Given the description of an element on the screen output the (x, y) to click on. 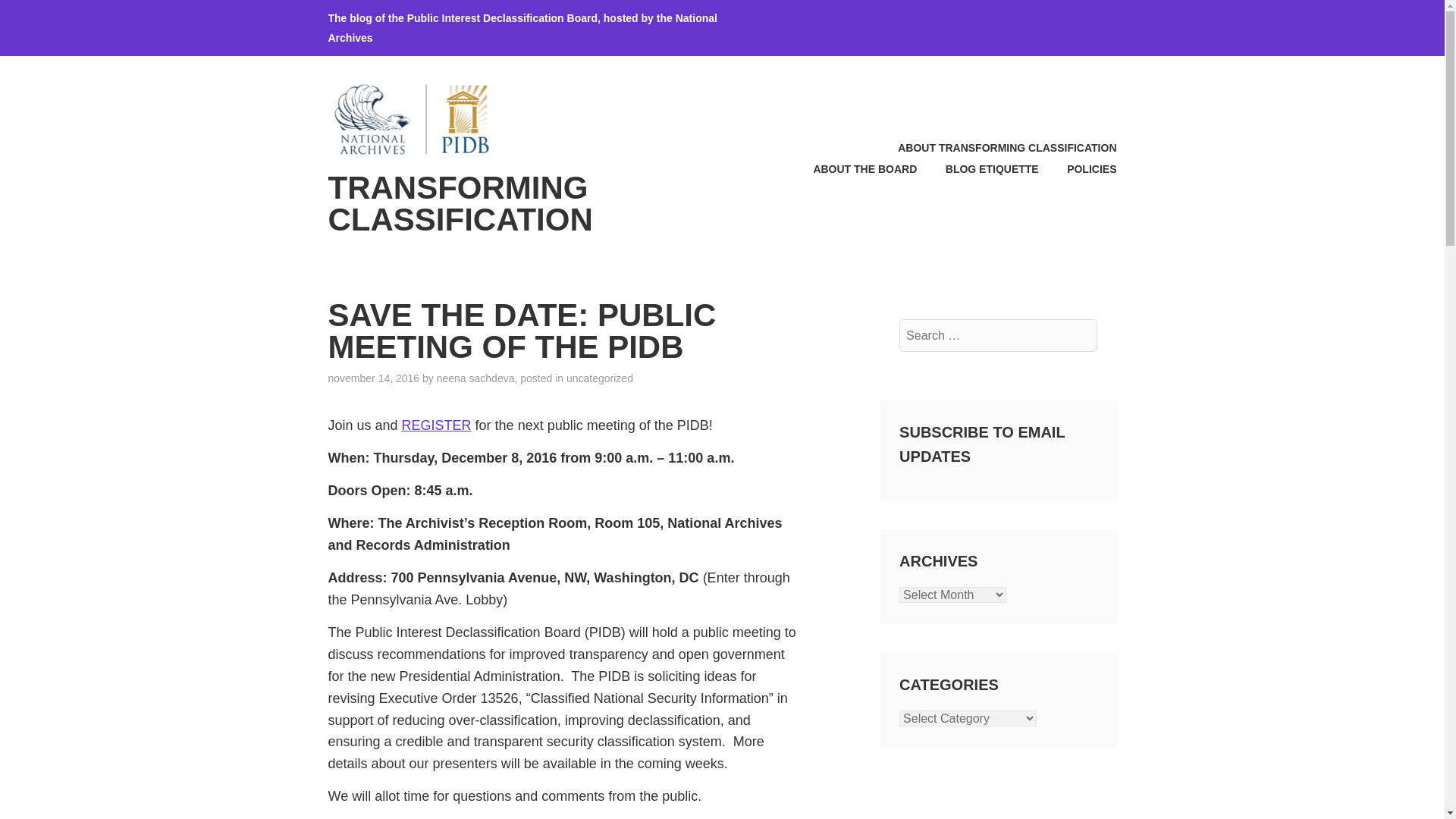
BLOG ETIQUETTE (979, 168)
november 14, 2016 (373, 378)
ABOUT THE BOARD (852, 168)
REGISTER (436, 425)
TRANSFORMING CLASSIFICATION (459, 203)
POLICIES (1079, 168)
neena sachdeva (475, 378)
Search (48, 17)
ABOUT TRANSFORMING CLASSIFICATION (994, 147)
uncategorized (599, 378)
